Given the description of an element on the screen output the (x, y) to click on. 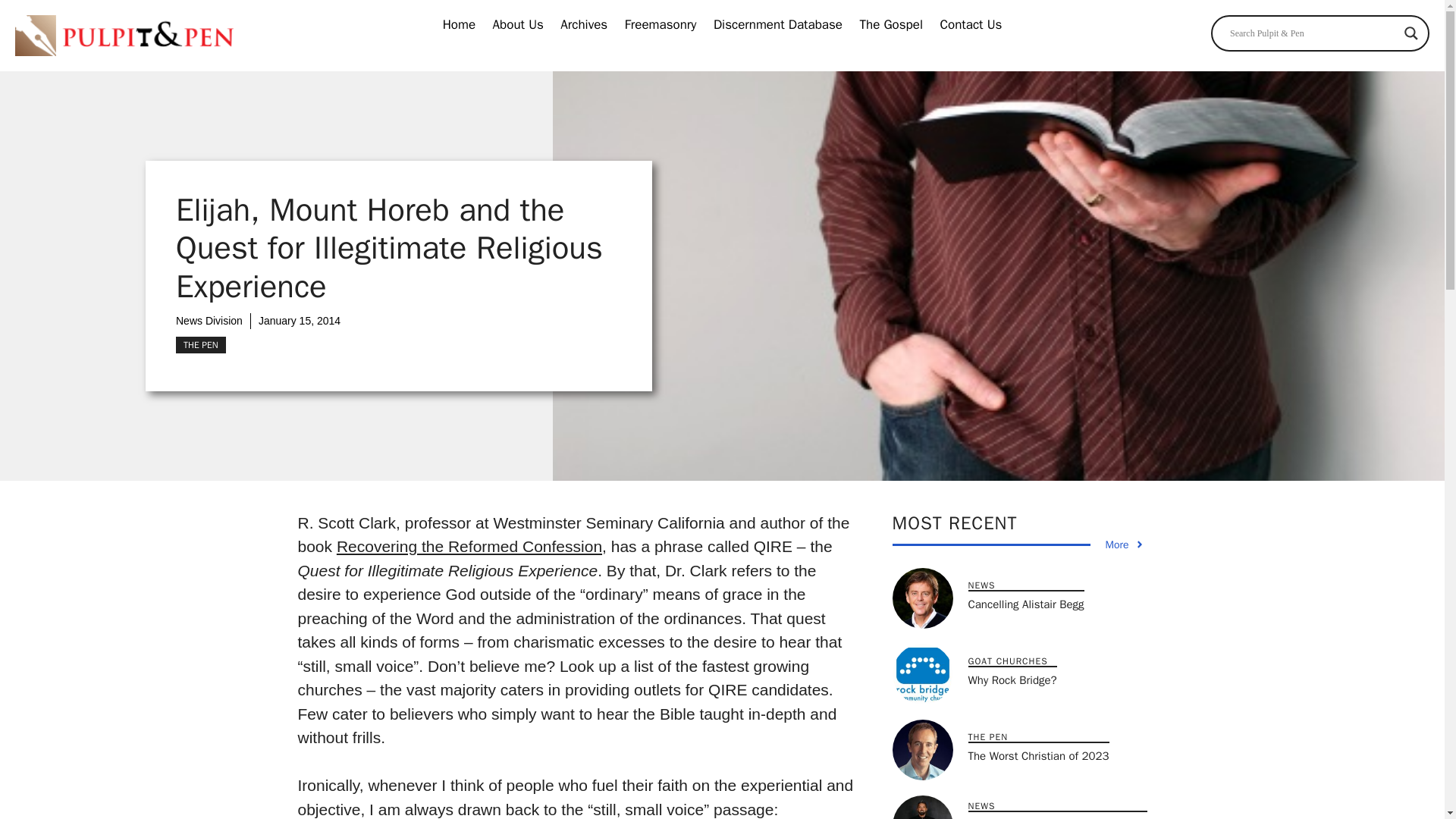
Home (459, 25)
Cancelling Alistair Begg (1025, 603)
The Worst Christian of 2023 (1038, 755)
More (1124, 544)
News Division (209, 320)
About Us (517, 25)
pplogo-3 (123, 35)
THE PEN (200, 344)
Discernment Database (777, 25)
Freemasonry (660, 25)
Why Rock Bridge? (1012, 680)
Archives (583, 25)
Contact Us (970, 25)
The Gospel (890, 25)
